Given the description of an element on the screen output the (x, y) to click on. 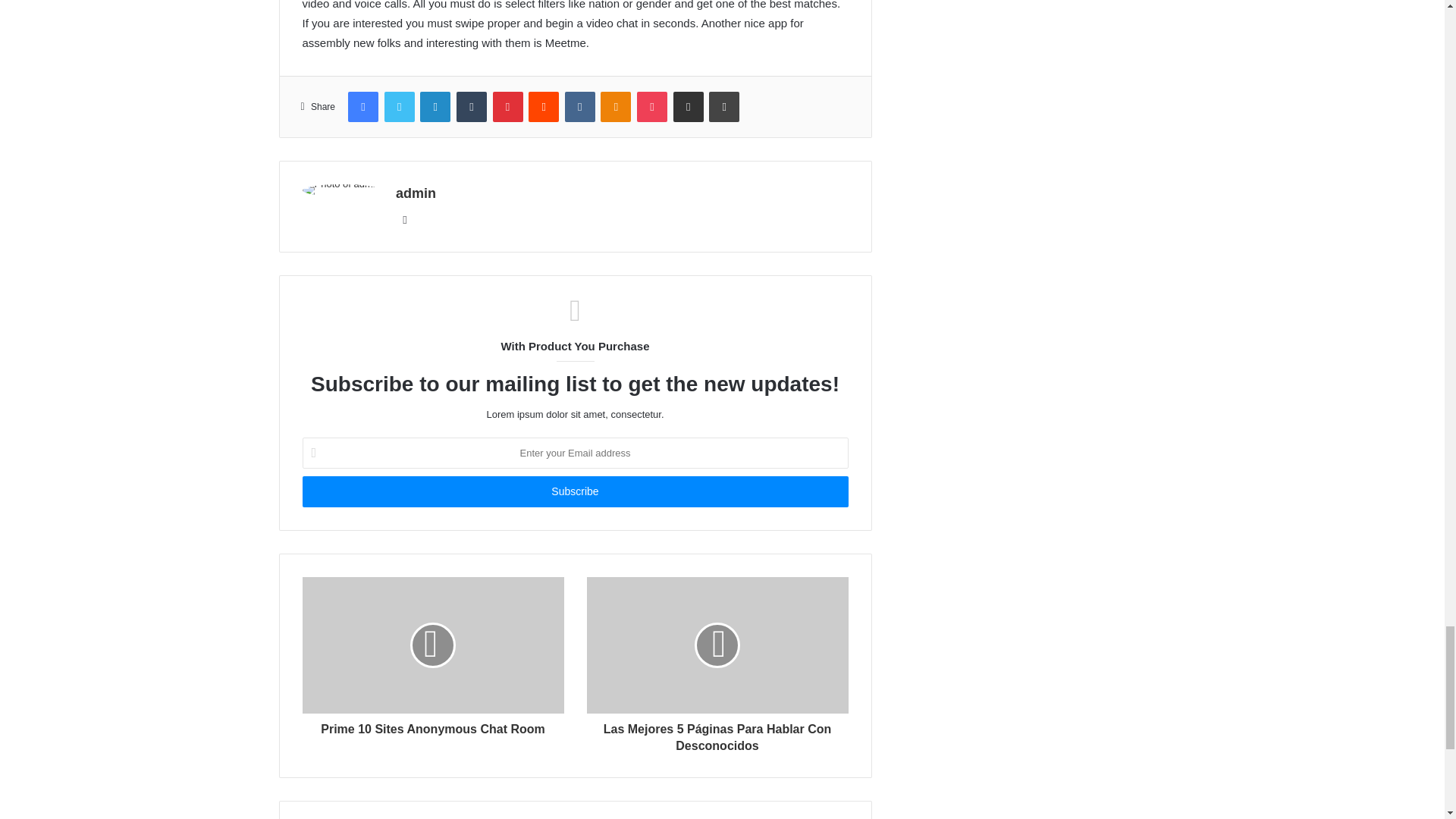
Subscribe (574, 490)
